Given the description of an element on the screen output the (x, y) to click on. 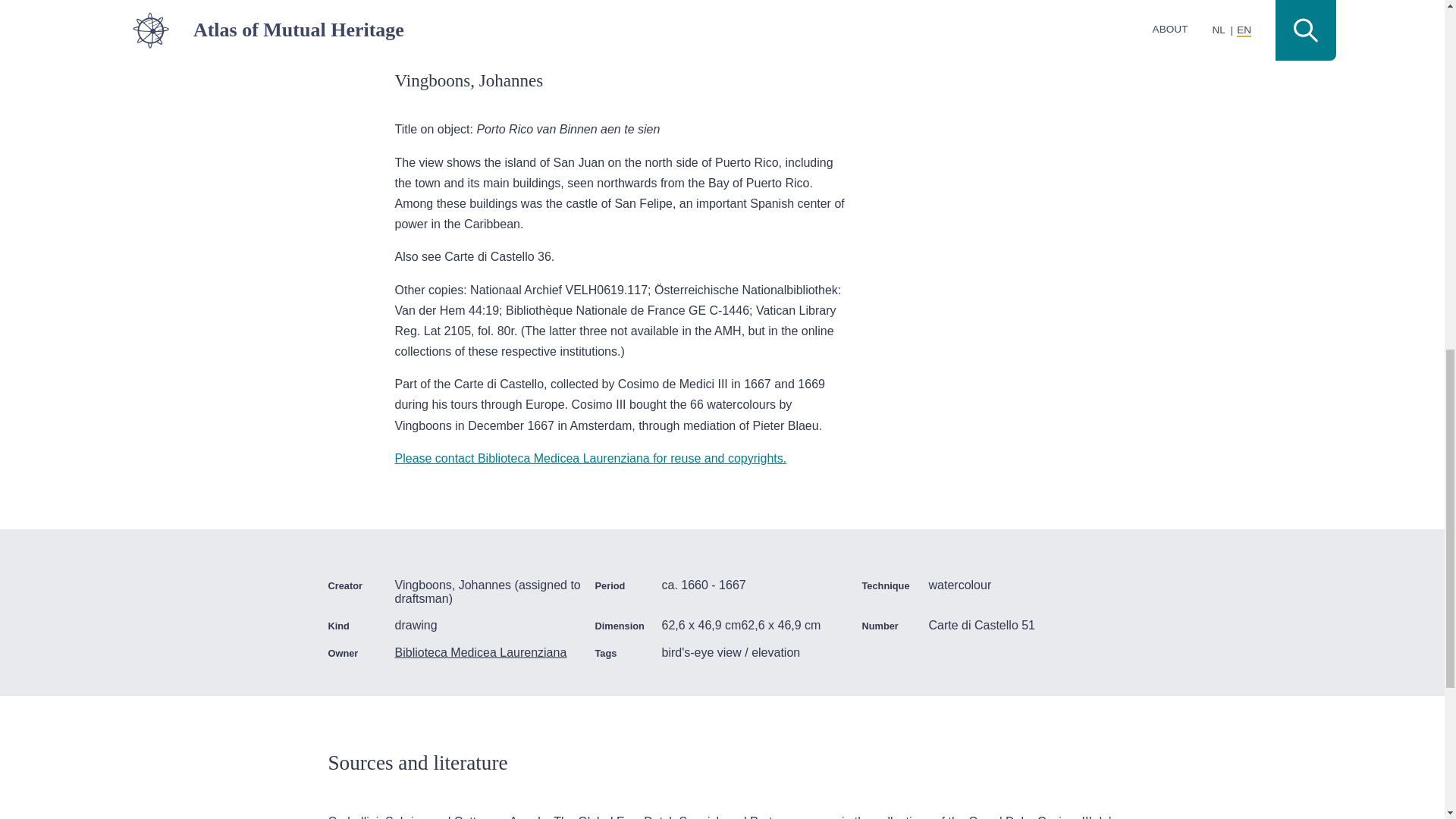
San Juan (1022, 12)
Biblioteca Medicea Laurenziana (488, 653)
